Given the description of an element on the screen output the (x, y) to click on. 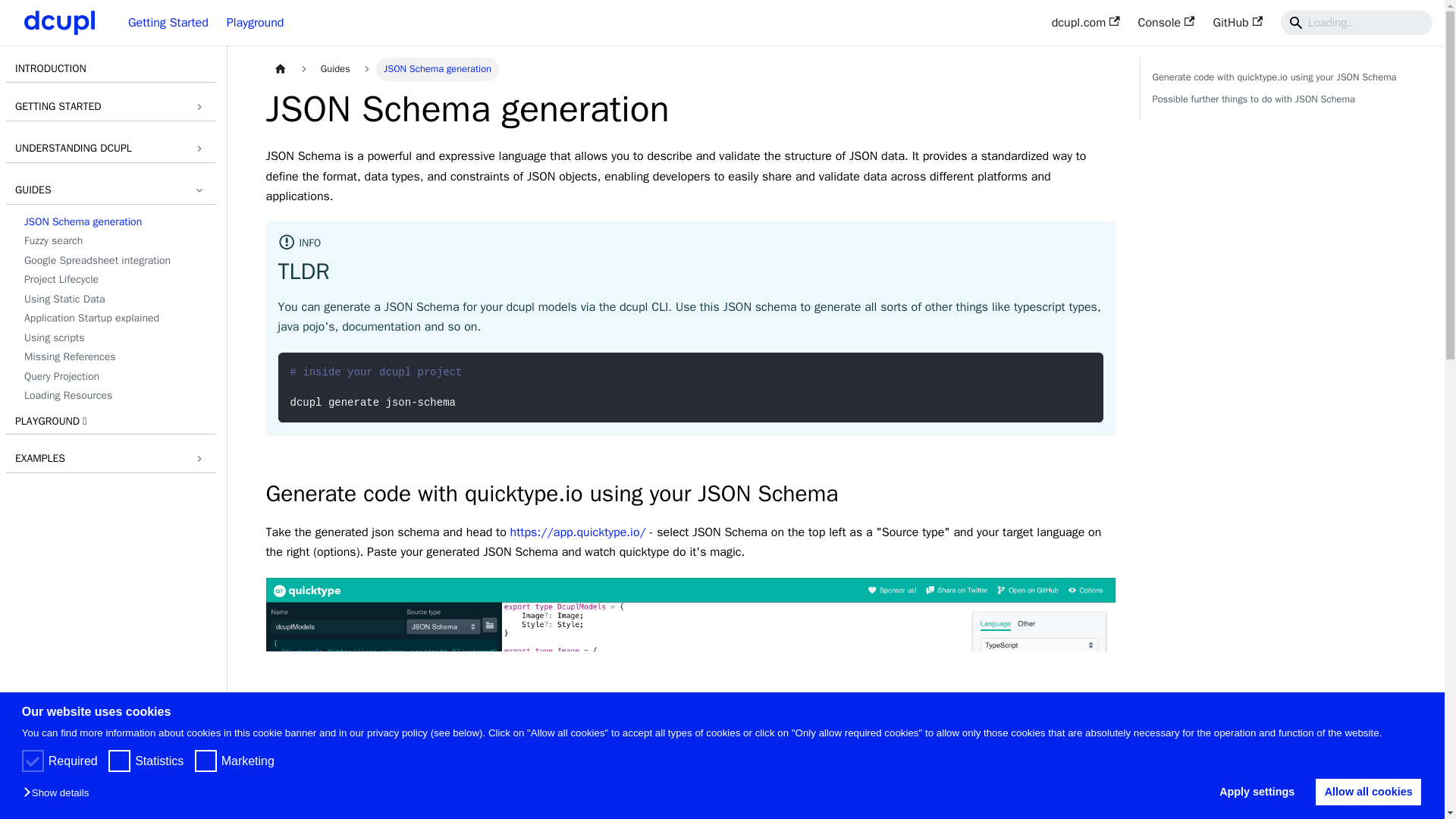
Apply settings (1261, 791)
Using scripts (114, 337)
Allow all cookies (1368, 791)
Getting Started (167, 22)
Using Static Data (114, 299)
Playground (255, 22)
INTRODUCTION (110, 69)
Show details (59, 793)
Project Lifecycle (114, 279)
UNDERSTANDING DCUPL (110, 149)
Application Startup explained (114, 318)
JSON Schema generation (114, 221)
GETTING STARTED (110, 107)
Fuzzy search (114, 240)
